Given the description of an element on the screen output the (x, y) to click on. 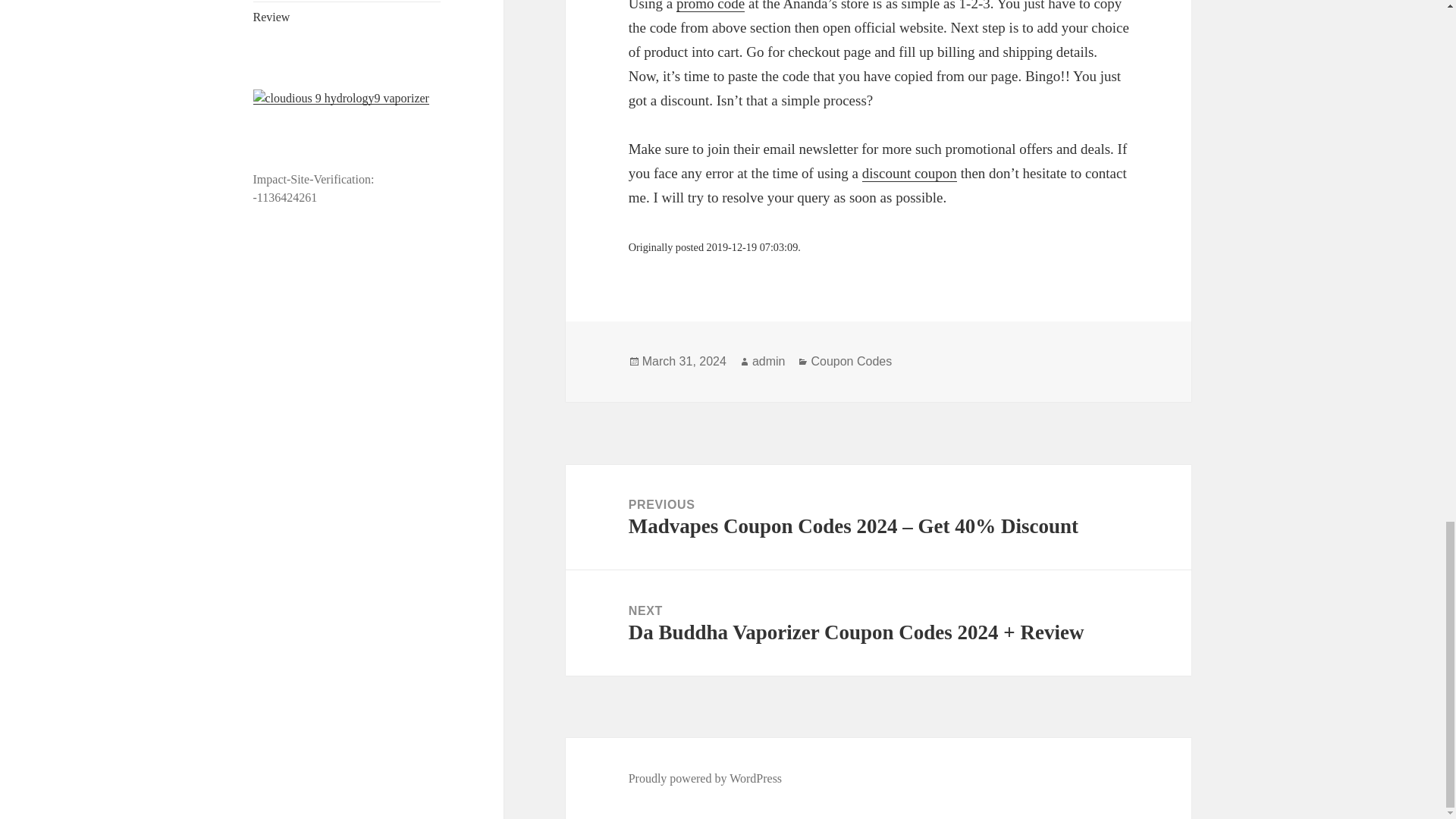
promo code (710, 6)
product review (271, 16)
admin (769, 361)
Proudly powered by WordPress (704, 778)
Review (271, 16)
March 31, 2024 (684, 361)
discount coupon (908, 173)
Coupon Codes (850, 361)
